Given the description of an element on the screen output the (x, y) to click on. 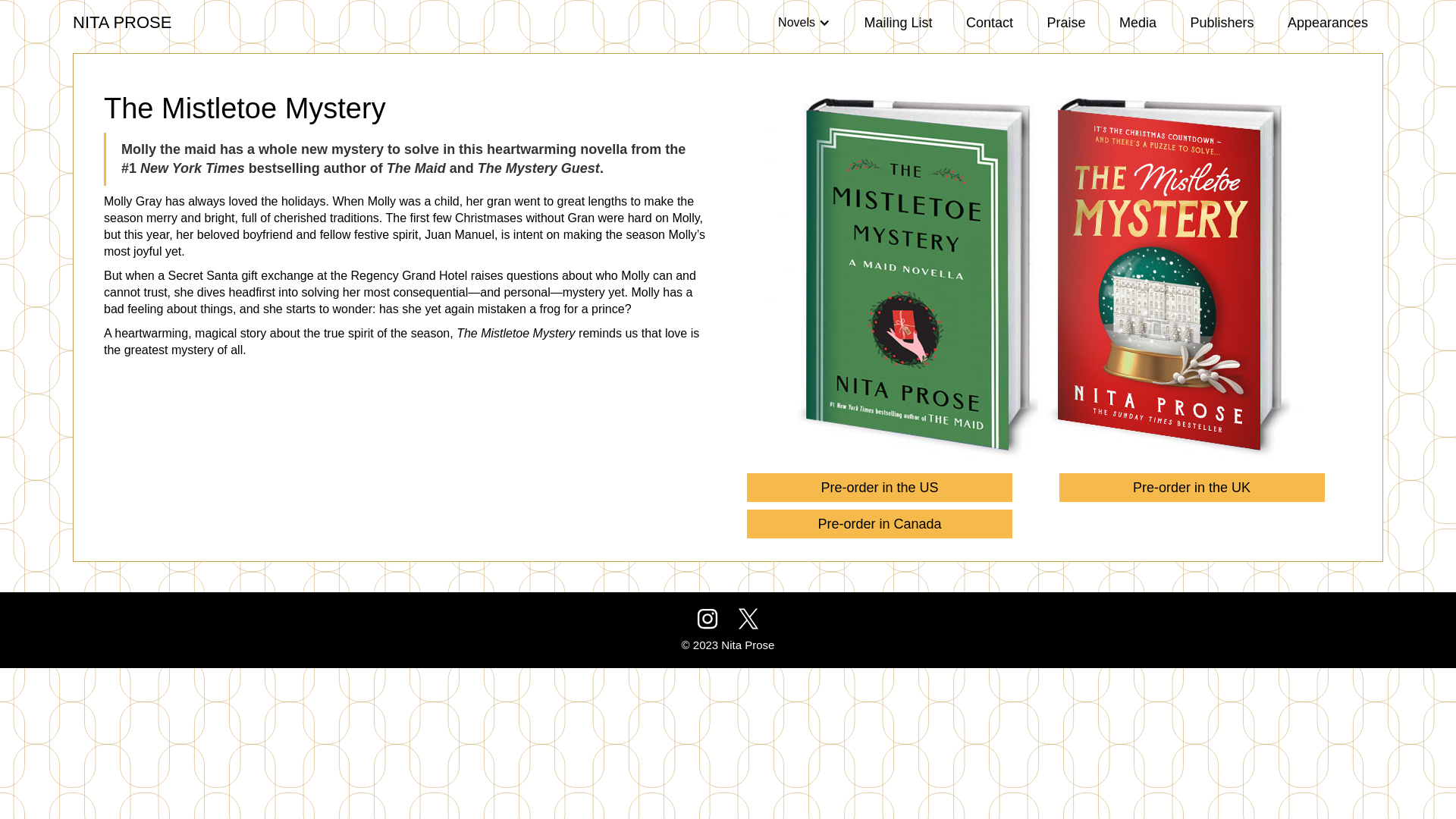
Contact (988, 22)
Mailing List (897, 22)
Pre-order in the US (878, 487)
Praise (1065, 22)
Media (1137, 22)
Pre-order in Canada (878, 523)
NITA PROSE (121, 15)
Publishers (1221, 22)
Appearances (1327, 22)
Pre-order in the UK (1190, 487)
